Given the description of an element on the screen output the (x, y) to click on. 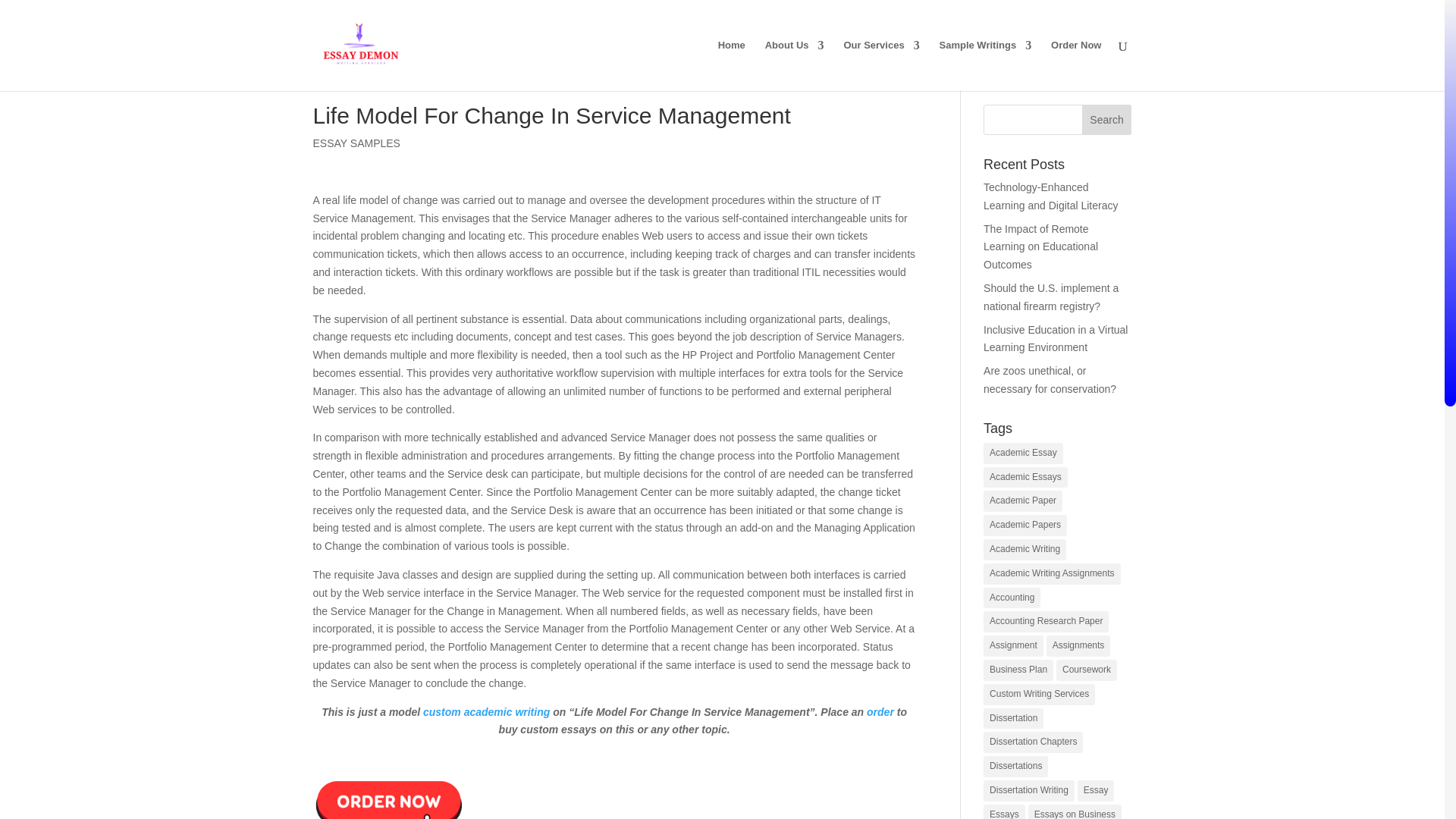
Order Now (1075, 65)
SubMenu (880, 65)
ESSAY SAMPLES (355, 143)
Order Now (388, 779)
About Us (794, 65)
Our Services (880, 65)
Search (1106, 119)
Sample Writings (985, 65)
